Given the description of an element on the screen output the (x, y) to click on. 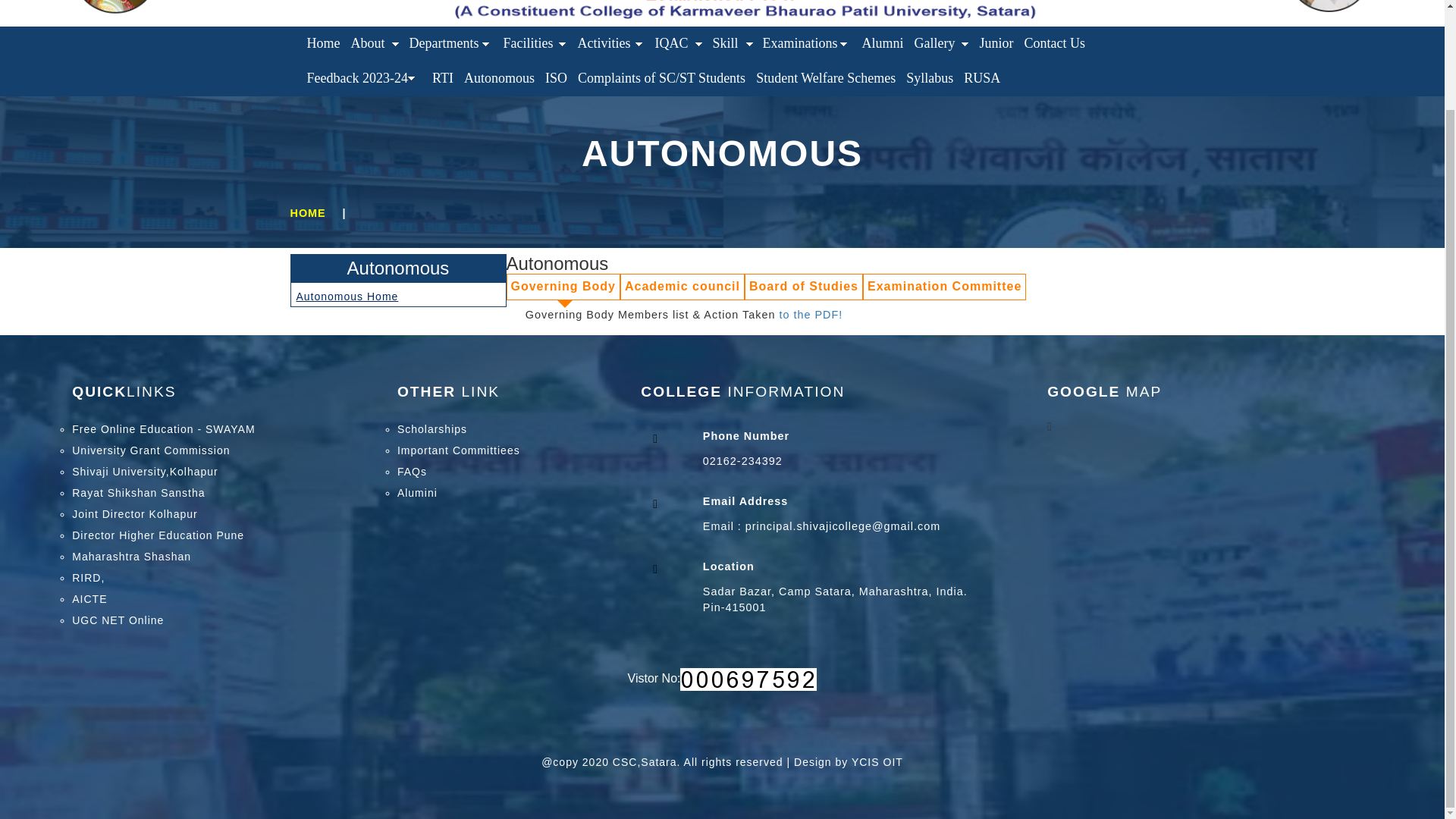
Activities (610, 43)
About (375, 43)
Departments (450, 43)
Home (323, 43)
Facilities (534, 43)
